Given the description of an element on the screen output the (x, y) to click on. 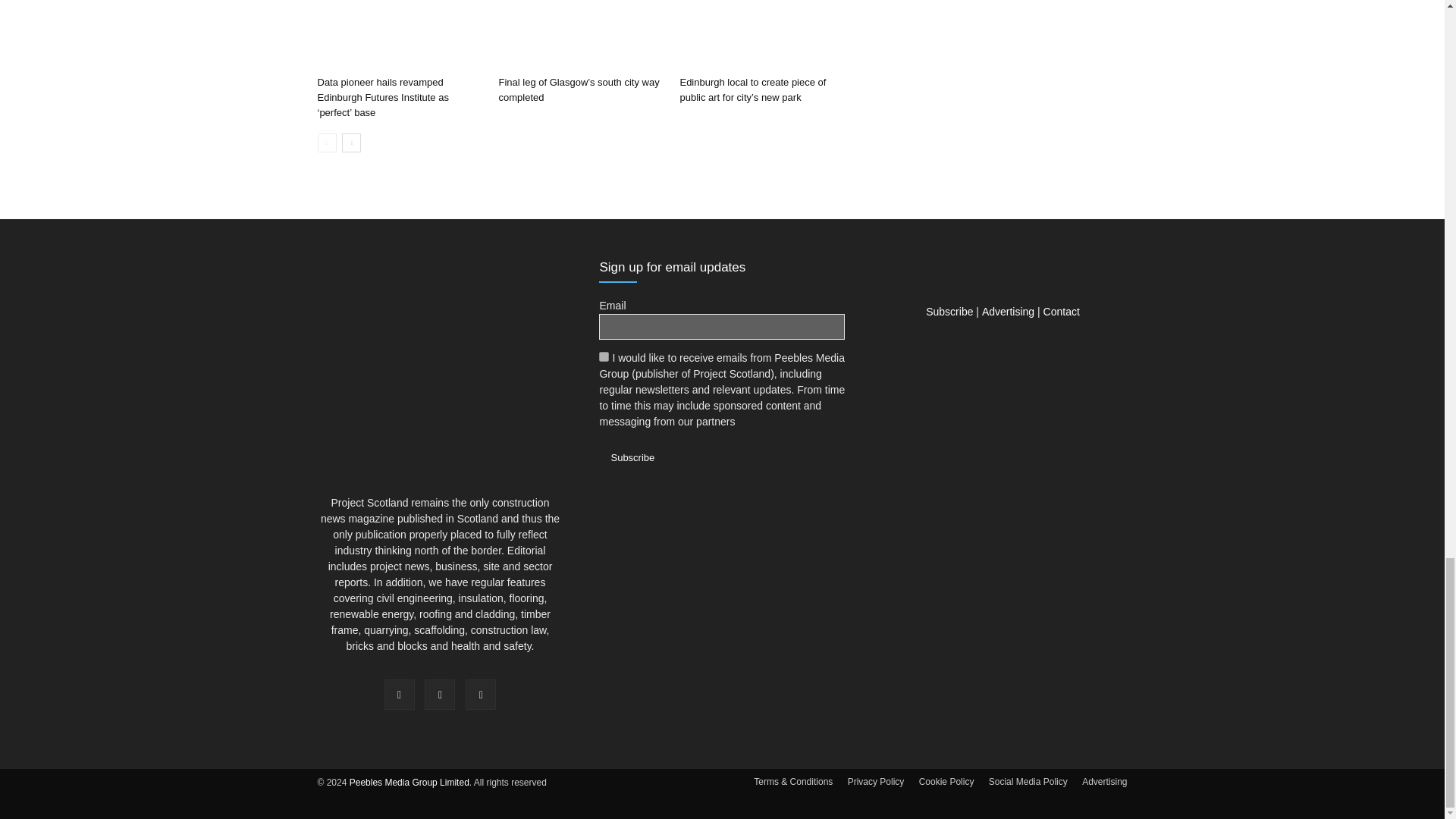
Subscribe (631, 457)
on (603, 356)
